Given the description of an element on the screen output the (x, y) to click on. 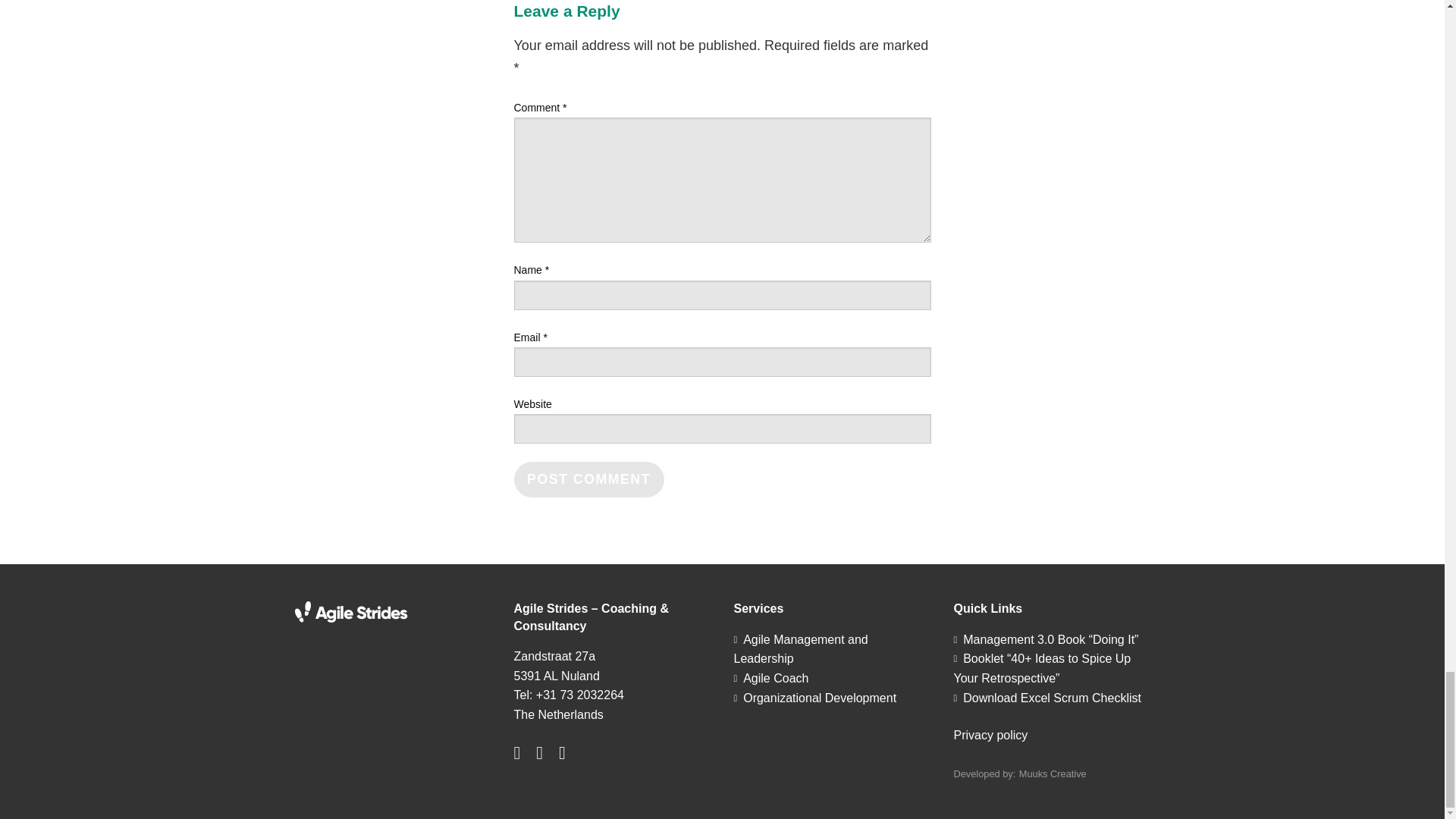
Post Comment (588, 479)
